Given the description of an element on the screen output the (x, y) to click on. 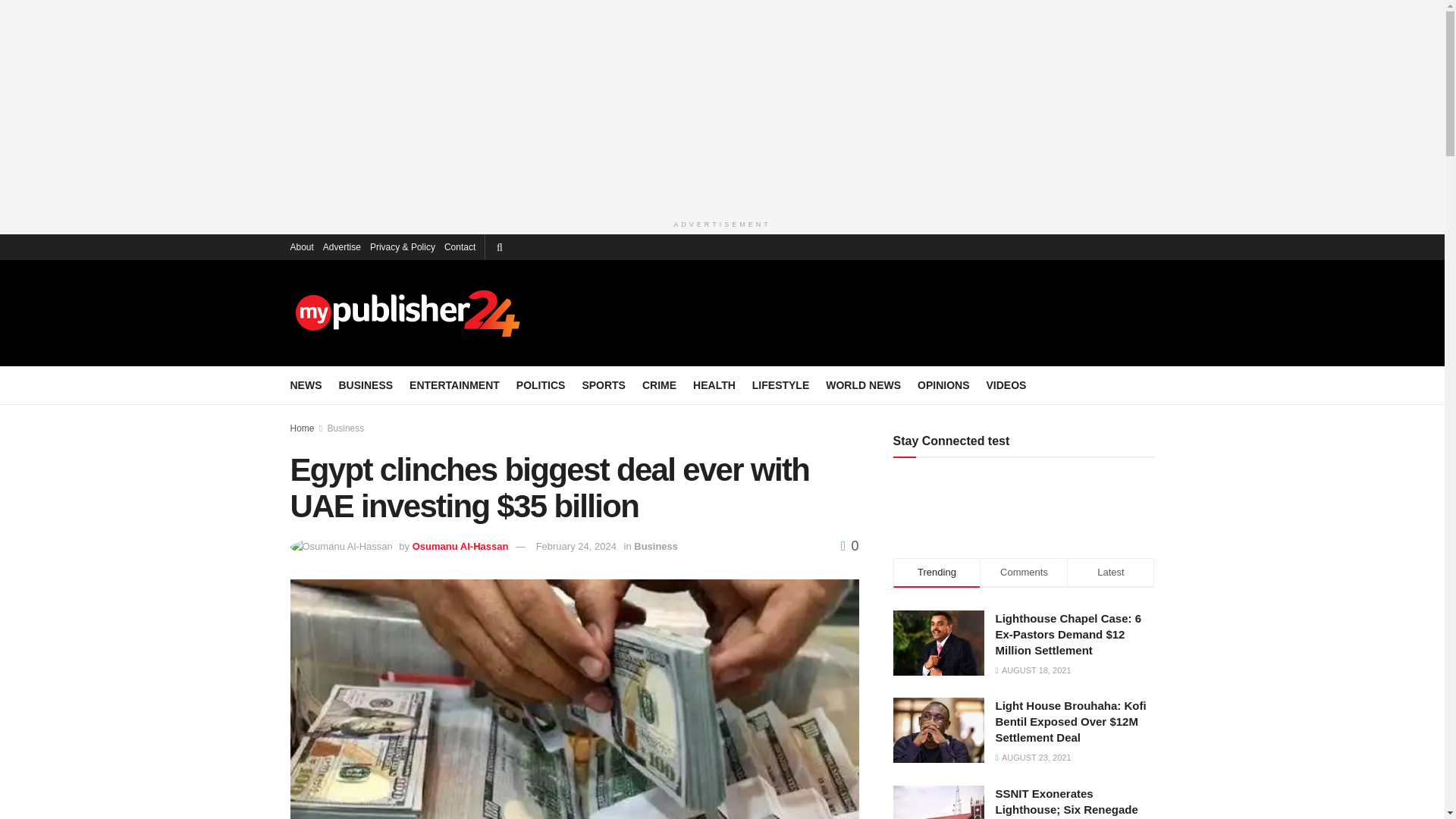
Advertise (342, 246)
Contact (460, 246)
NEWS (305, 384)
About (301, 246)
BUSINESS (365, 384)
